Given the description of an element on the screen output the (x, y) to click on. 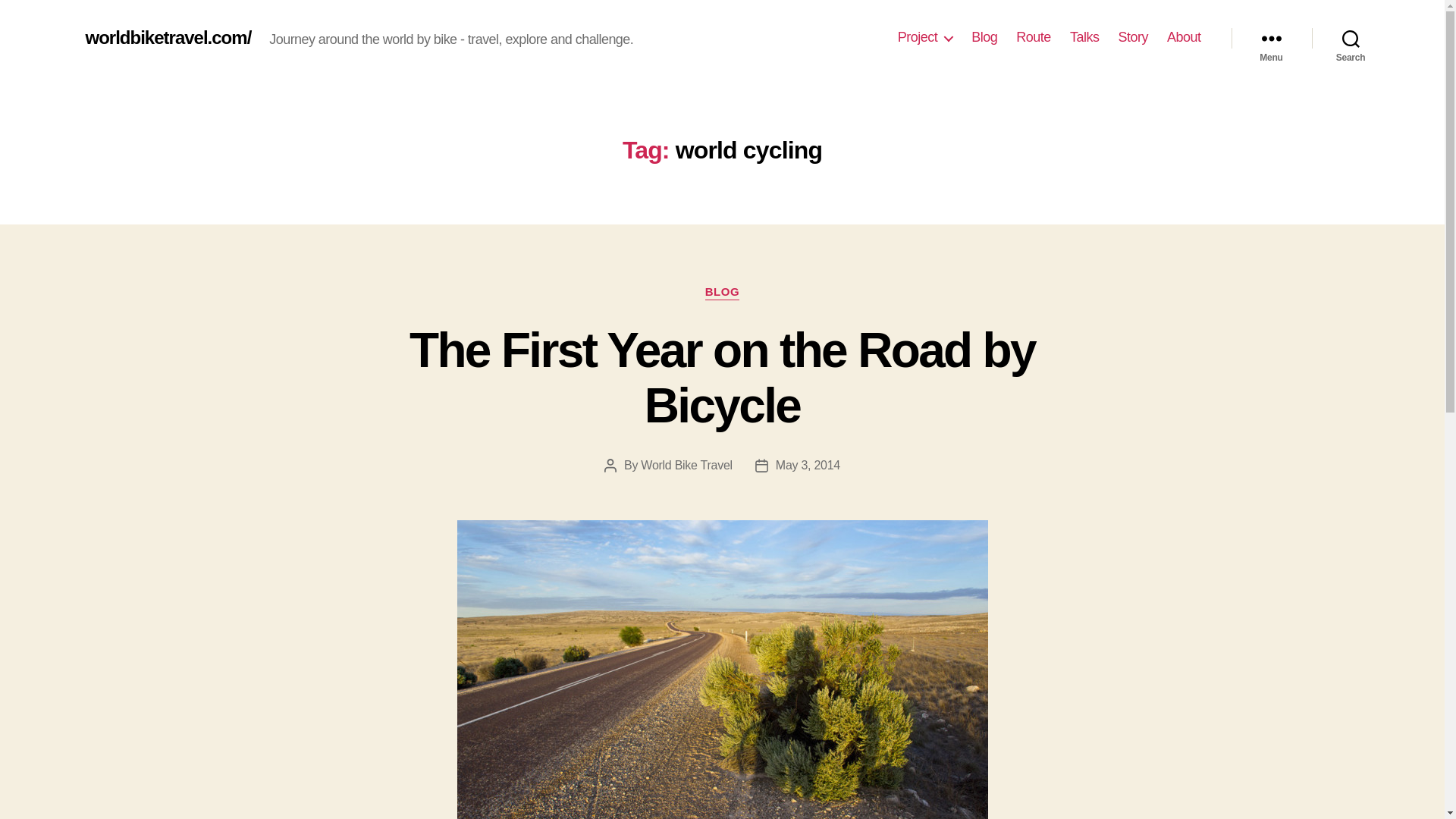
Route (1033, 37)
Search (1350, 37)
About Me (1184, 37)
Menu (1271, 37)
About (1184, 37)
Blog (984, 37)
Route (1033, 37)
Story (1133, 37)
Talks I Was Speaking At (1084, 37)
About World Bike Travel (925, 37)
